Given the description of an element on the screen output the (x, y) to click on. 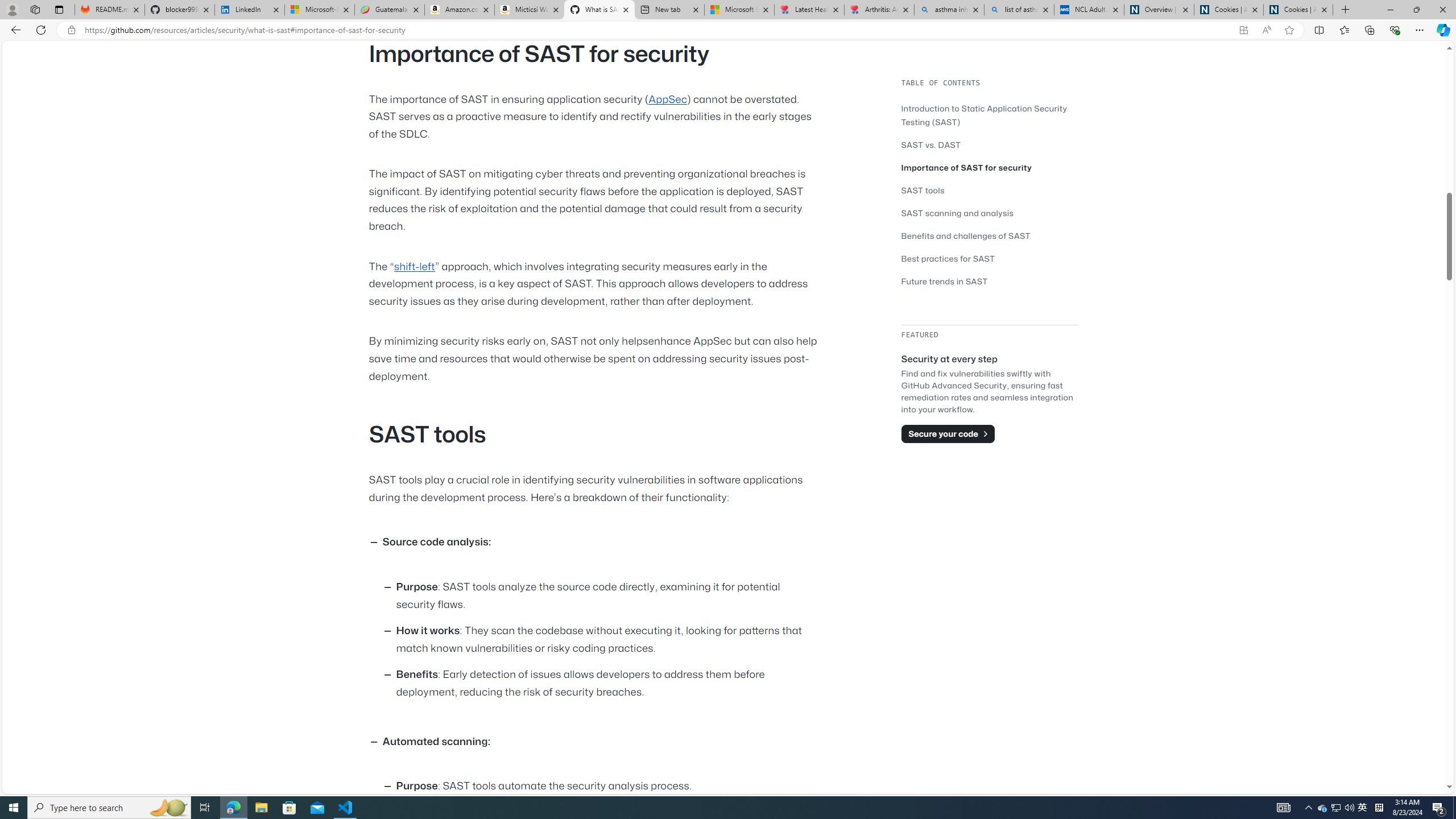
App available. Install GitHub (1243, 29)
SAST scanning and analysis (957, 212)
SAST vs. DAST (930, 144)
Importance of SAST for security (989, 167)
LinkedIn (249, 9)
AppSec (667, 99)
Benefits and challenges of SAST (965, 235)
shift-left (414, 266)
Cookies | About | NICE (1297, 9)
